Given the description of an element on the screen output the (x, y) to click on. 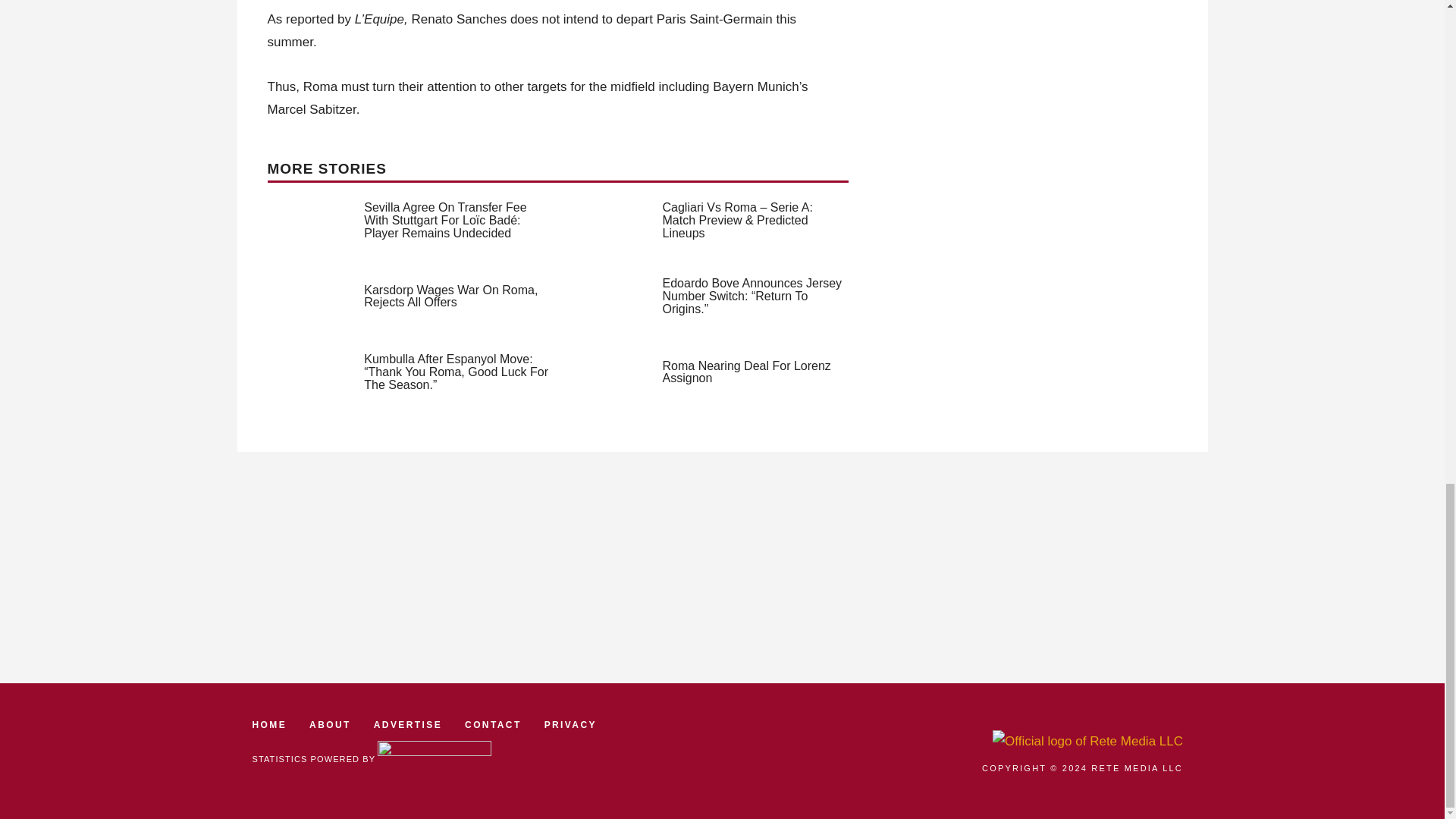
Roma Nearing Deal For Lorenz Assignon (746, 371)
ABOUT (329, 725)
Karsdorp Wages War On Roma, Rejects All Offers (450, 296)
HOME (268, 725)
ADVERTISE (408, 725)
CONTACT (492, 725)
PRIVACY (570, 725)
